Given the description of an element on the screen output the (x, y) to click on. 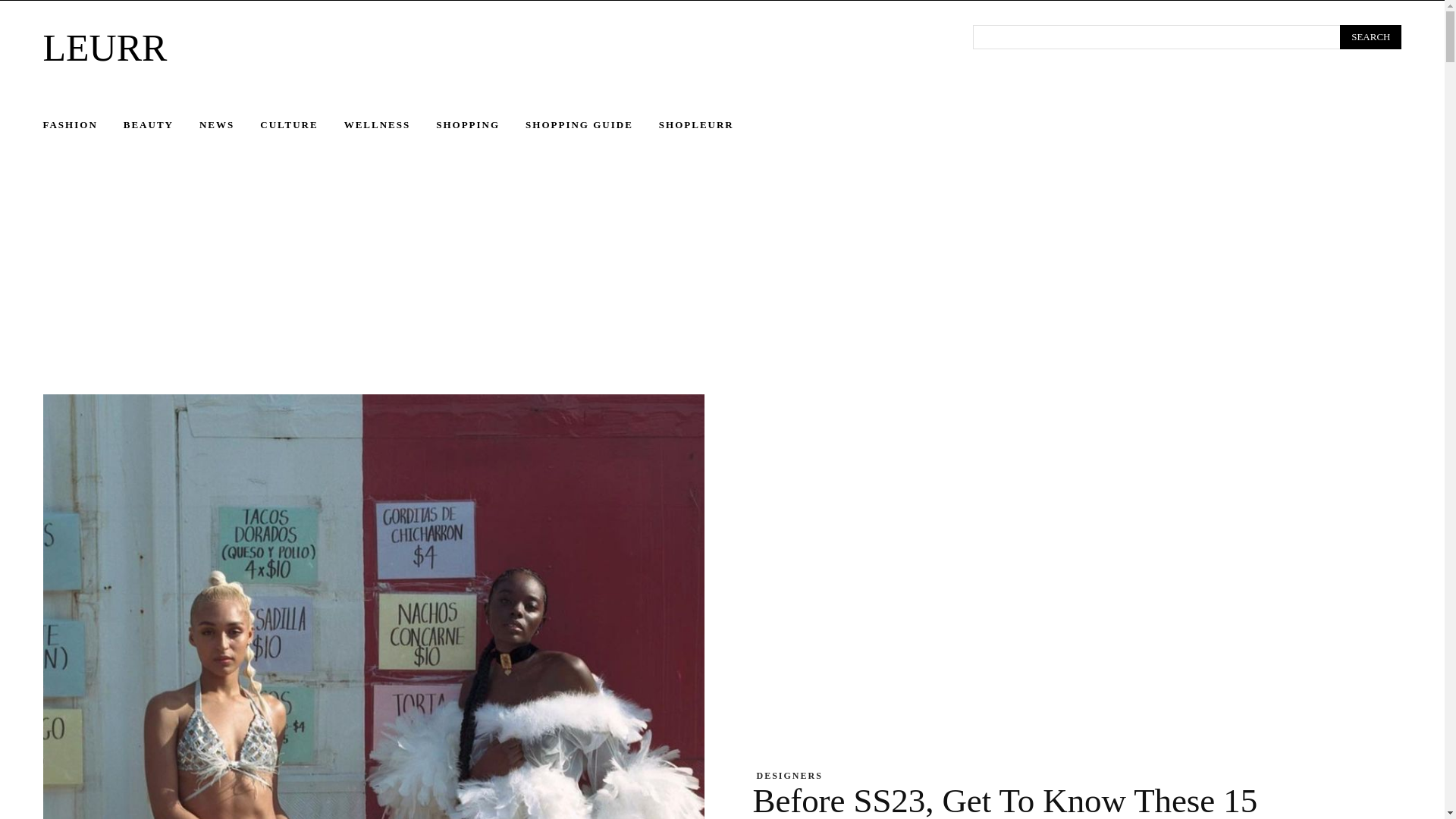
WELLNESS (389, 125)
SHOPPING GUIDE (592, 125)
LEURR (489, 47)
BEAUTY (161, 125)
CULTURE (301, 125)
DESIGNERS (789, 775)
SHOPPING (480, 125)
SEARCH (1369, 37)
SHOPLEURR (709, 125)
